Given the description of an element on the screen output the (x, y) to click on. 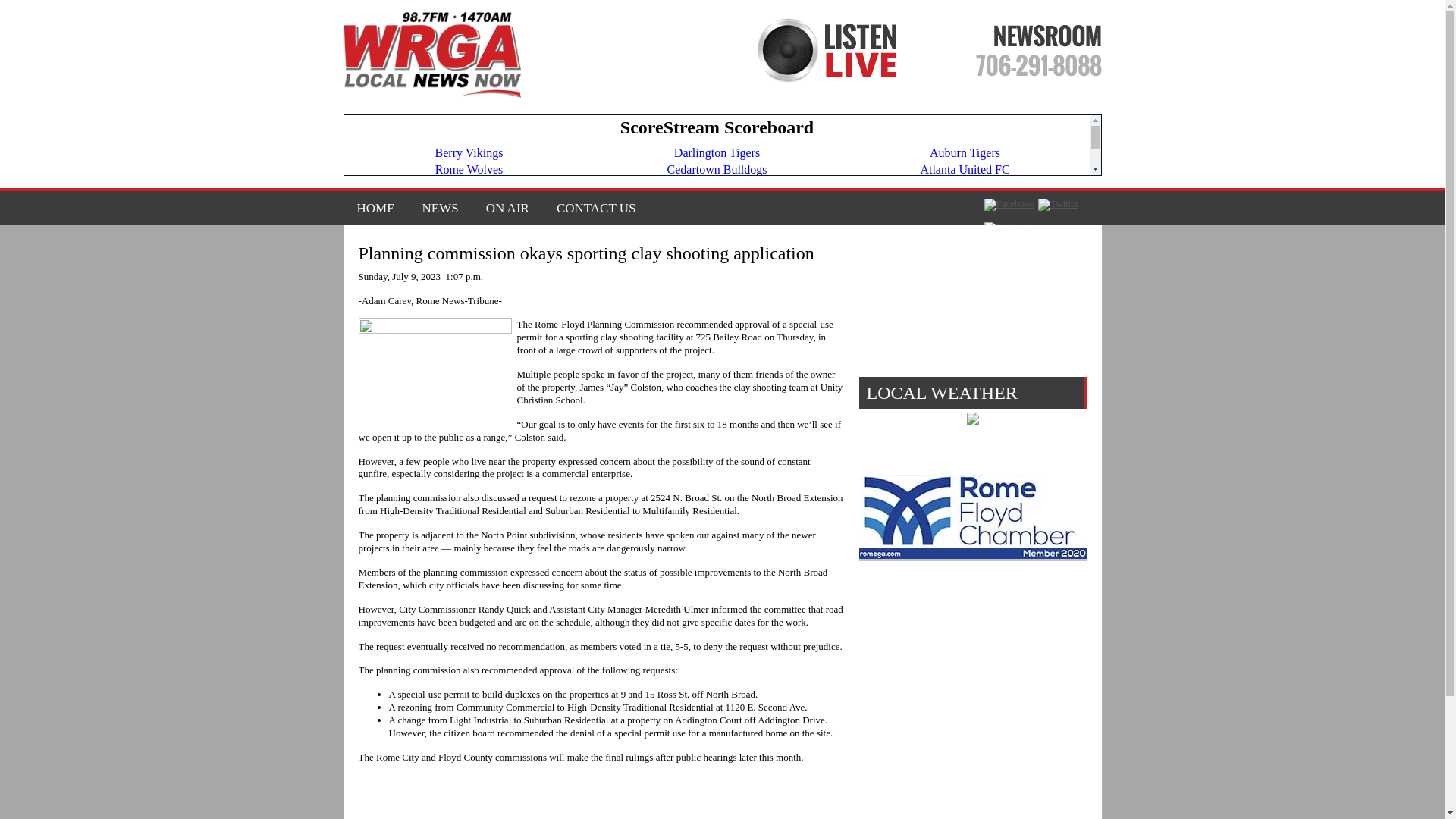
ON AIR (507, 207)
Facebook (1009, 204)
NEWS (440, 207)
Twitter (1058, 204)
CONTACT US (589, 207)
HOME (374, 207)
Podcasts (1007, 227)
